Given the description of an element on the screen output the (x, y) to click on. 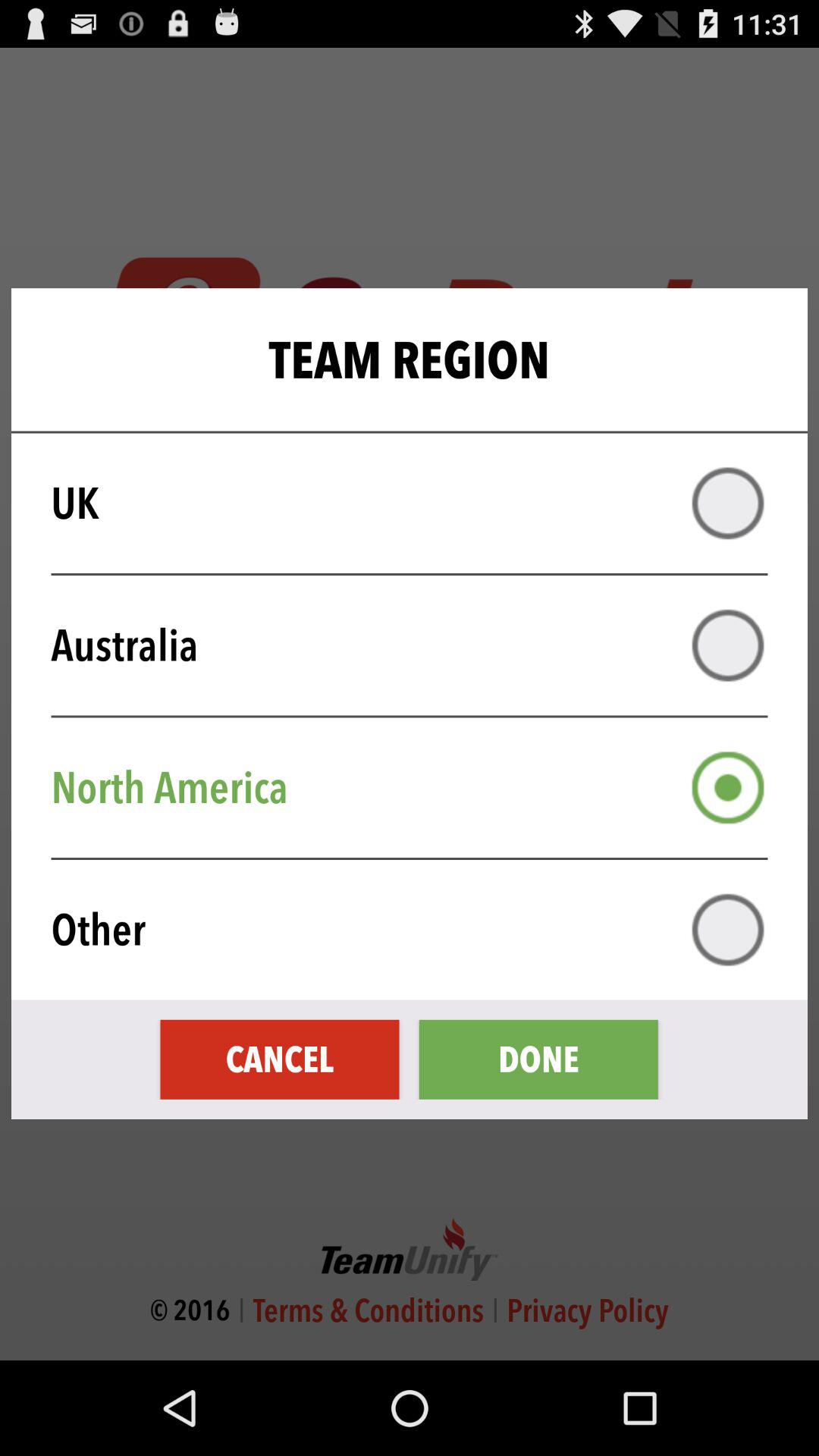
click to verify country location (727, 503)
